Given the description of an element on the screen output the (x, y) to click on. 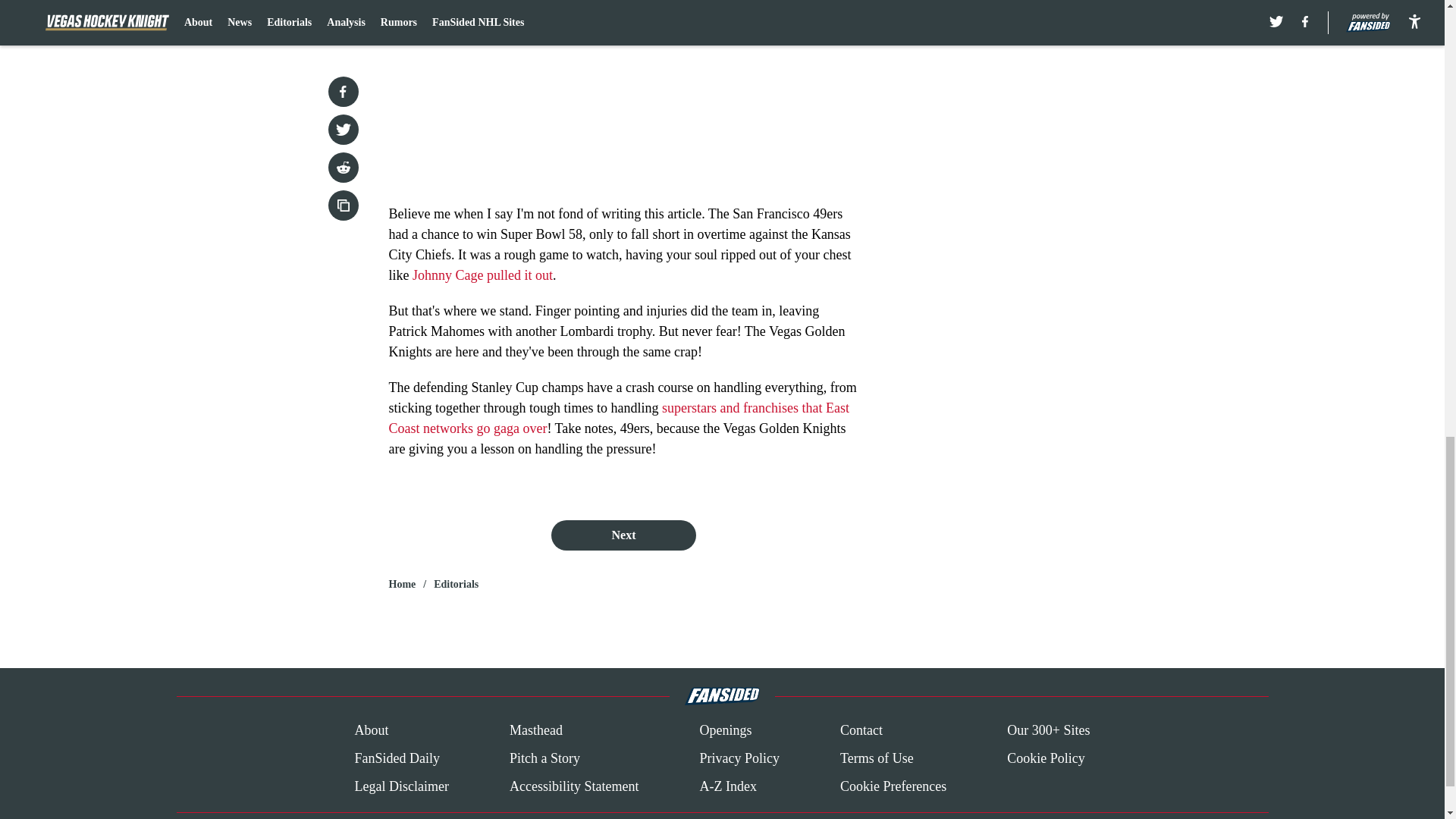
Accessibility Statement (574, 786)
Pitch a Story (544, 758)
Editorials (456, 584)
Home (401, 584)
Terms of Use (877, 758)
Openings (724, 730)
Next (622, 535)
Privacy Policy (738, 758)
A-Z Index (726, 786)
Legal Disclaimer (400, 786)
Cookie Policy (1045, 758)
FanSided Daily (396, 758)
Johnny Cage pulled it out (482, 274)
Contact (861, 730)
